Given the description of an element on the screen output the (x, y) to click on. 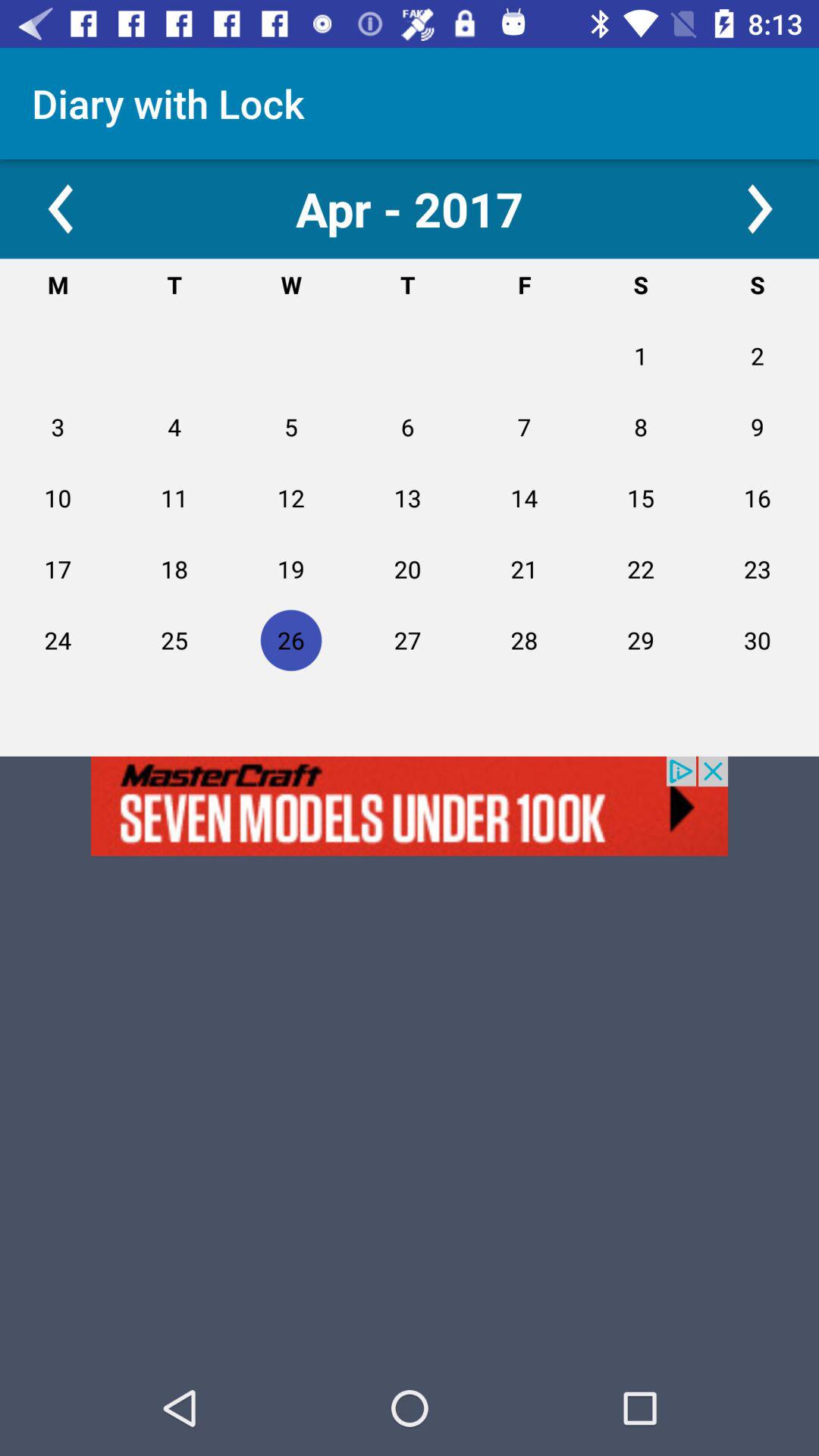
go to previous month (59, 208)
